Given the description of an element on the screen output the (x, y) to click on. 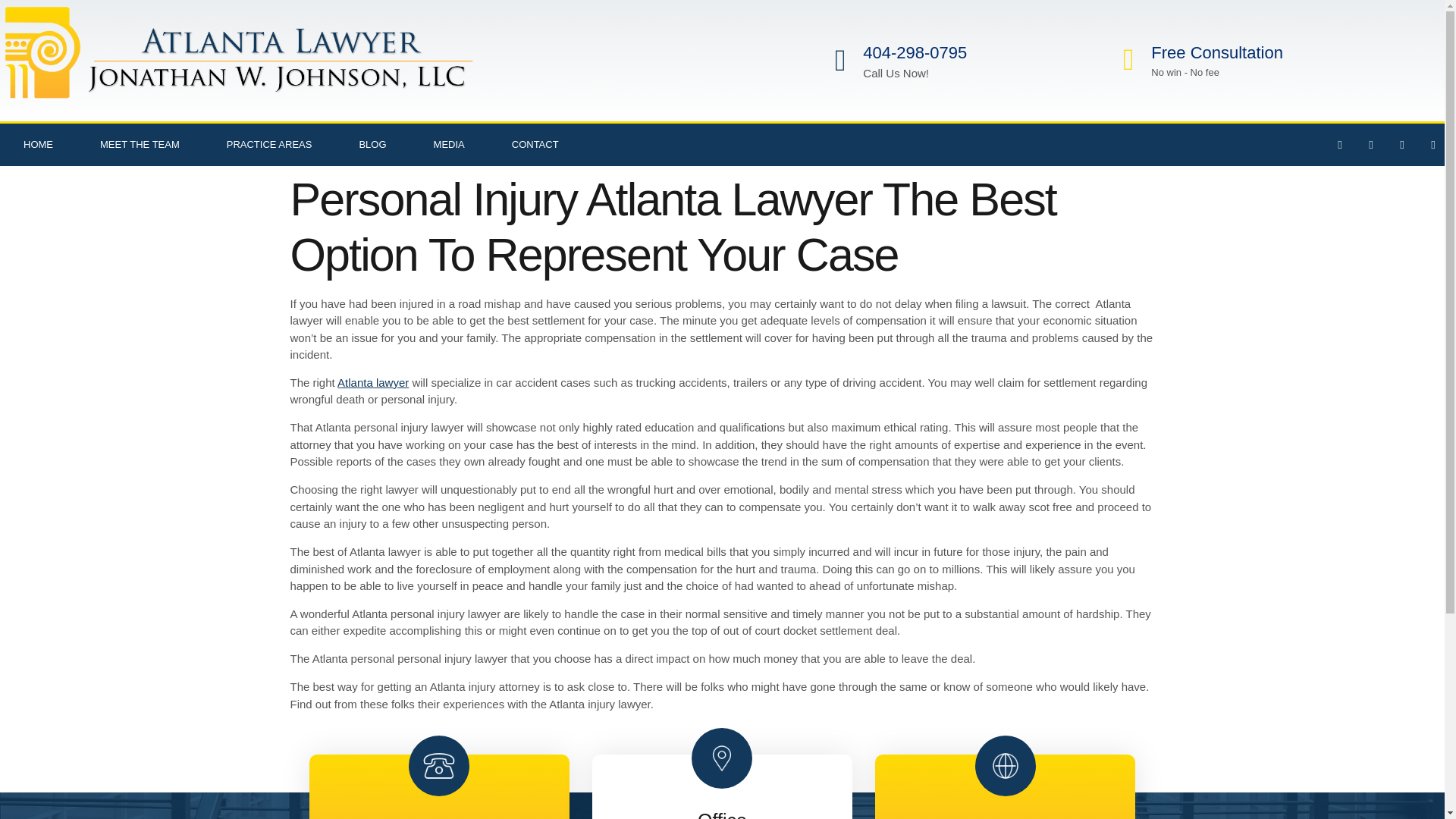
CONTACT (534, 144)
MEDIA (448, 144)
404-298-0795 (914, 52)
Atlanta lawyer (373, 382)
Free Consultation (1216, 52)
BLOG (371, 144)
HOME (38, 144)
PRACTICE AREAS (269, 144)
MEET THE TEAM (140, 144)
